Given the description of an element on the screen output the (x, y) to click on. 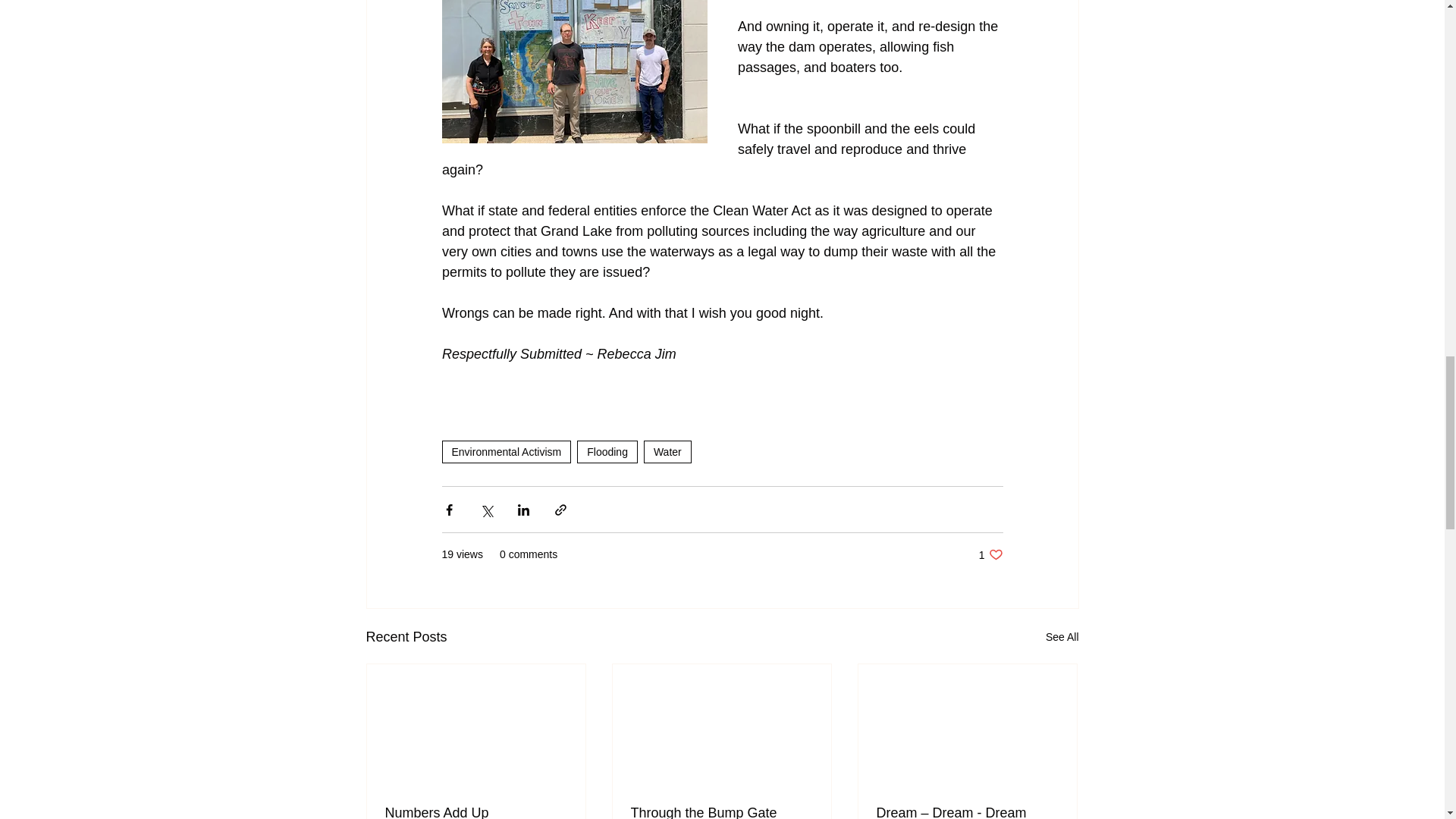
Flooding (606, 451)
Numbers Add Up  (990, 554)
See All (476, 812)
Environmental Activism (1061, 637)
Through the Bump Gate (505, 451)
Water (721, 812)
